Given the description of an element on the screen output the (x, y) to click on. 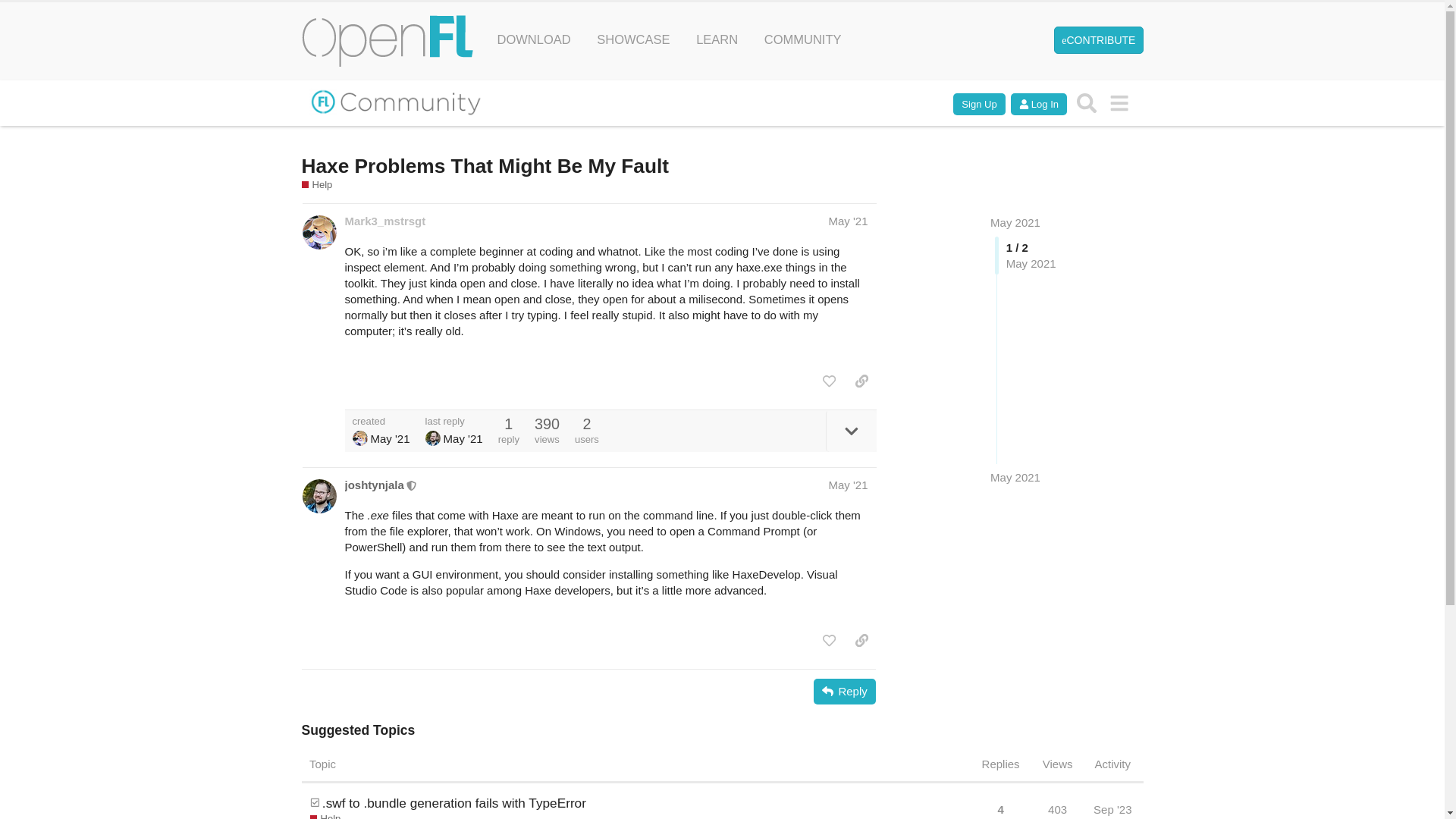
SHOWCASE (633, 39)
Post date (847, 220)
like this post (829, 380)
May 2021 (1015, 222)
Sep '23 (1112, 805)
share a link to this post (861, 380)
Log In (1038, 104)
LEARN (716, 39)
Post date (847, 484)
CONTRIBUTE (1098, 40)
